Given the description of an element on the screen output the (x, y) to click on. 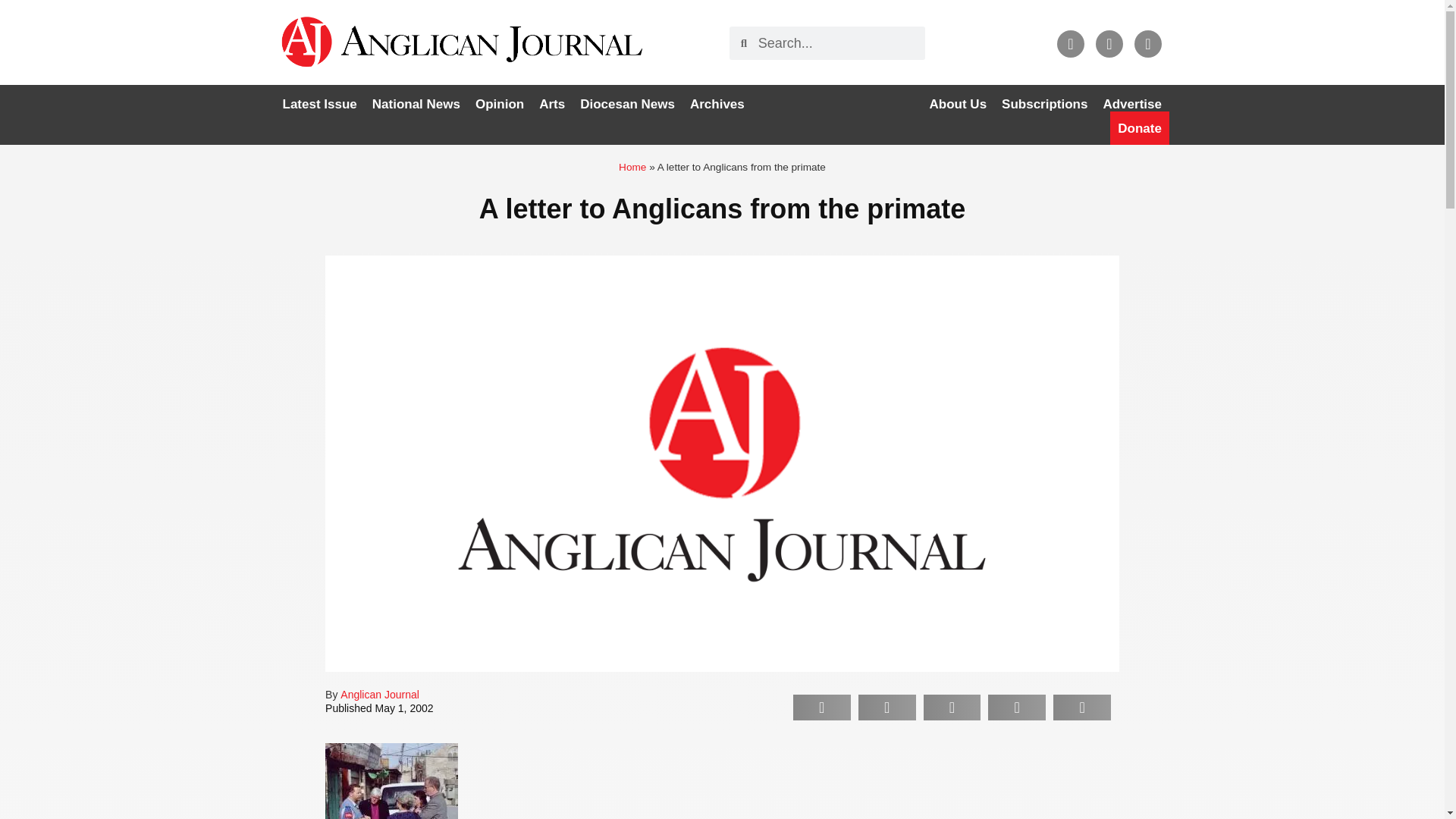
Opinion (499, 104)
Diocesan News (627, 104)
Archives (717, 104)
Subscriptions (1044, 104)
Advertise (1131, 104)
Anglican Journal (379, 694)
About Us (957, 104)
National News (416, 104)
Latest Issue (319, 104)
Arts (551, 104)
